Given the description of an element on the screen output the (x, y) to click on. 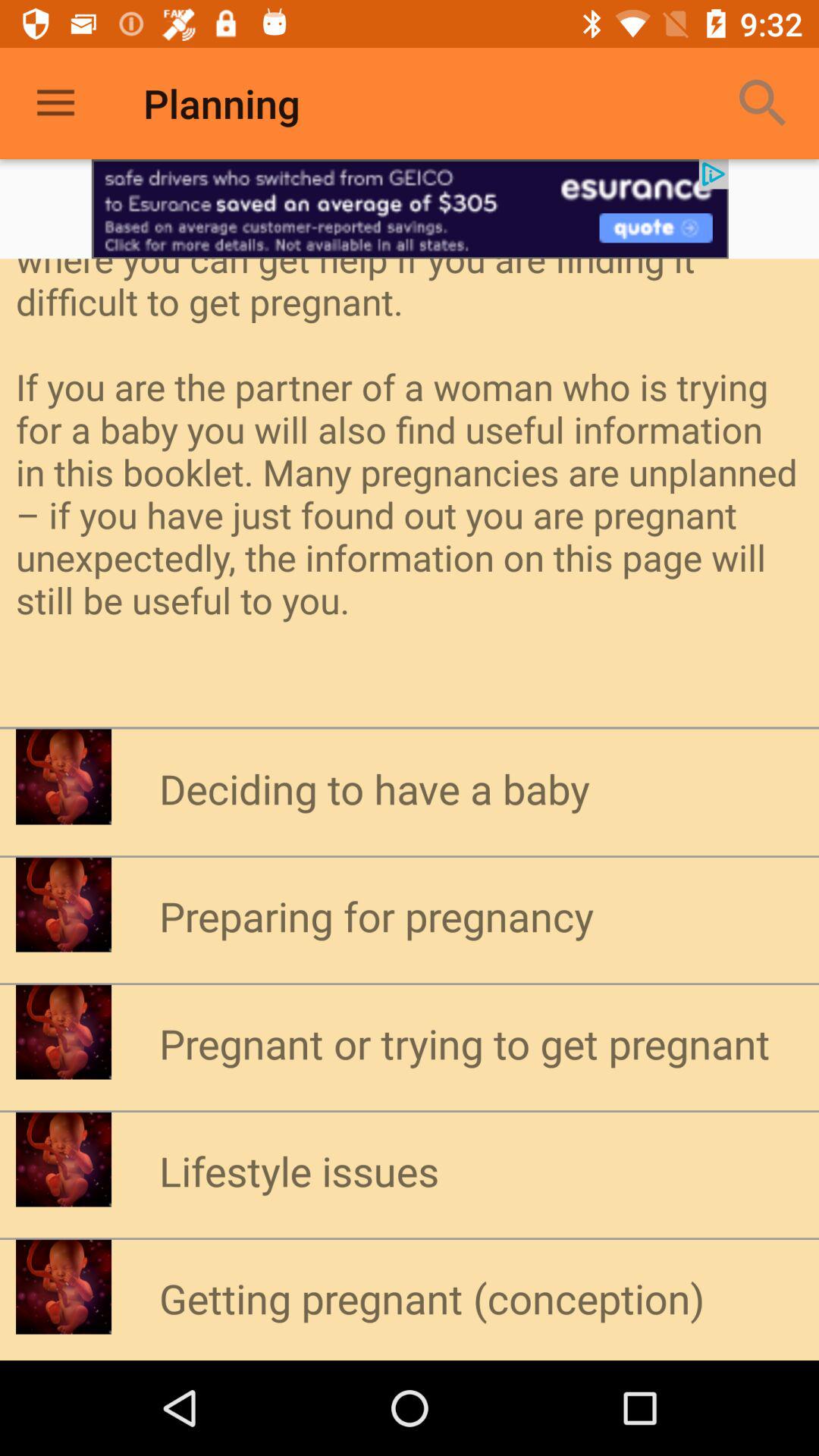
advertisement (409, 208)
